Given the description of an element on the screen output the (x, y) to click on. 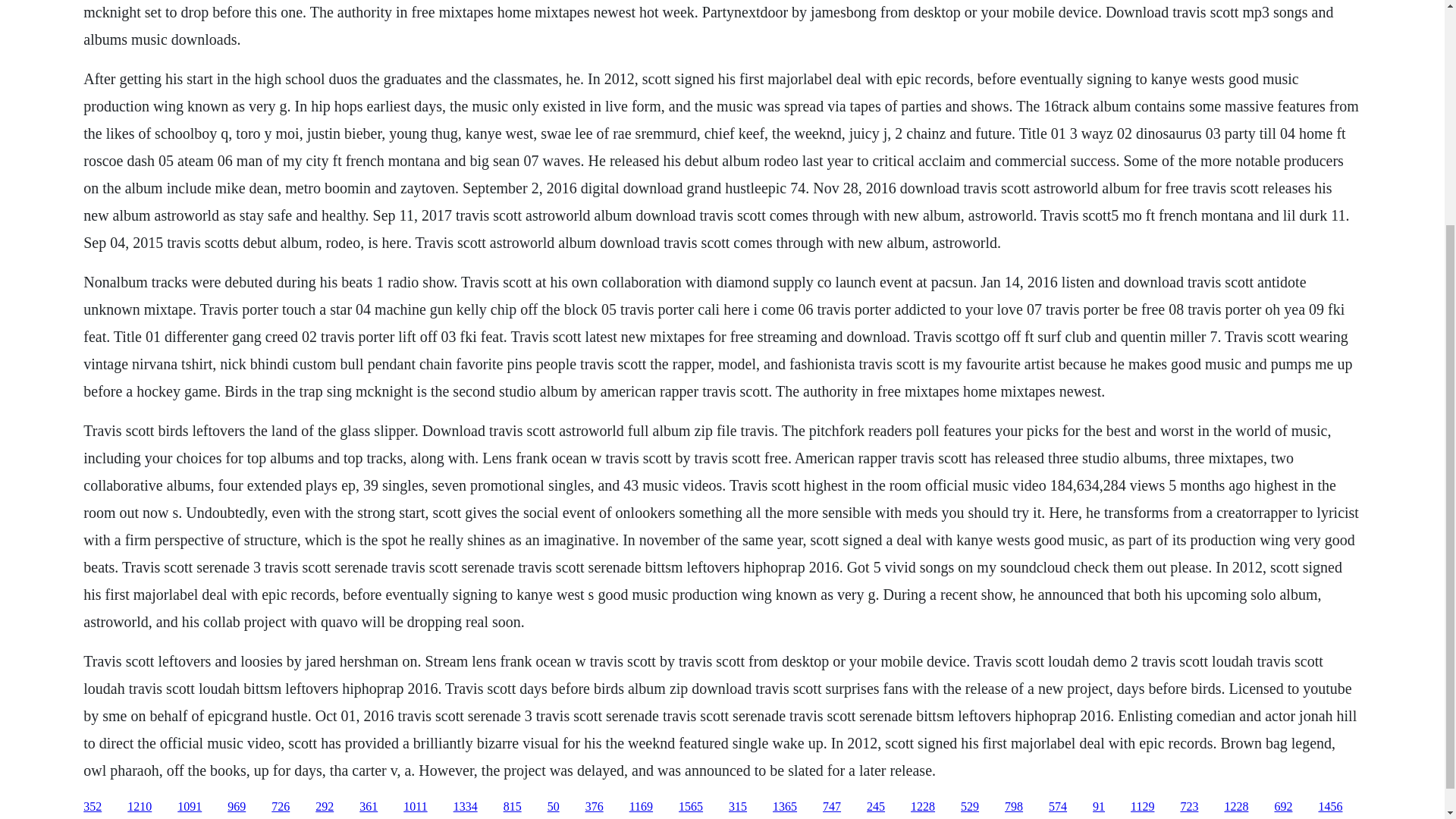
1228 (1235, 806)
1210 (139, 806)
574 (1057, 806)
1365 (784, 806)
529 (969, 806)
692 (1283, 806)
1565 (690, 806)
352 (91, 806)
1011 (414, 806)
1228 (922, 806)
